Given the description of an element on the screen output the (x, y) to click on. 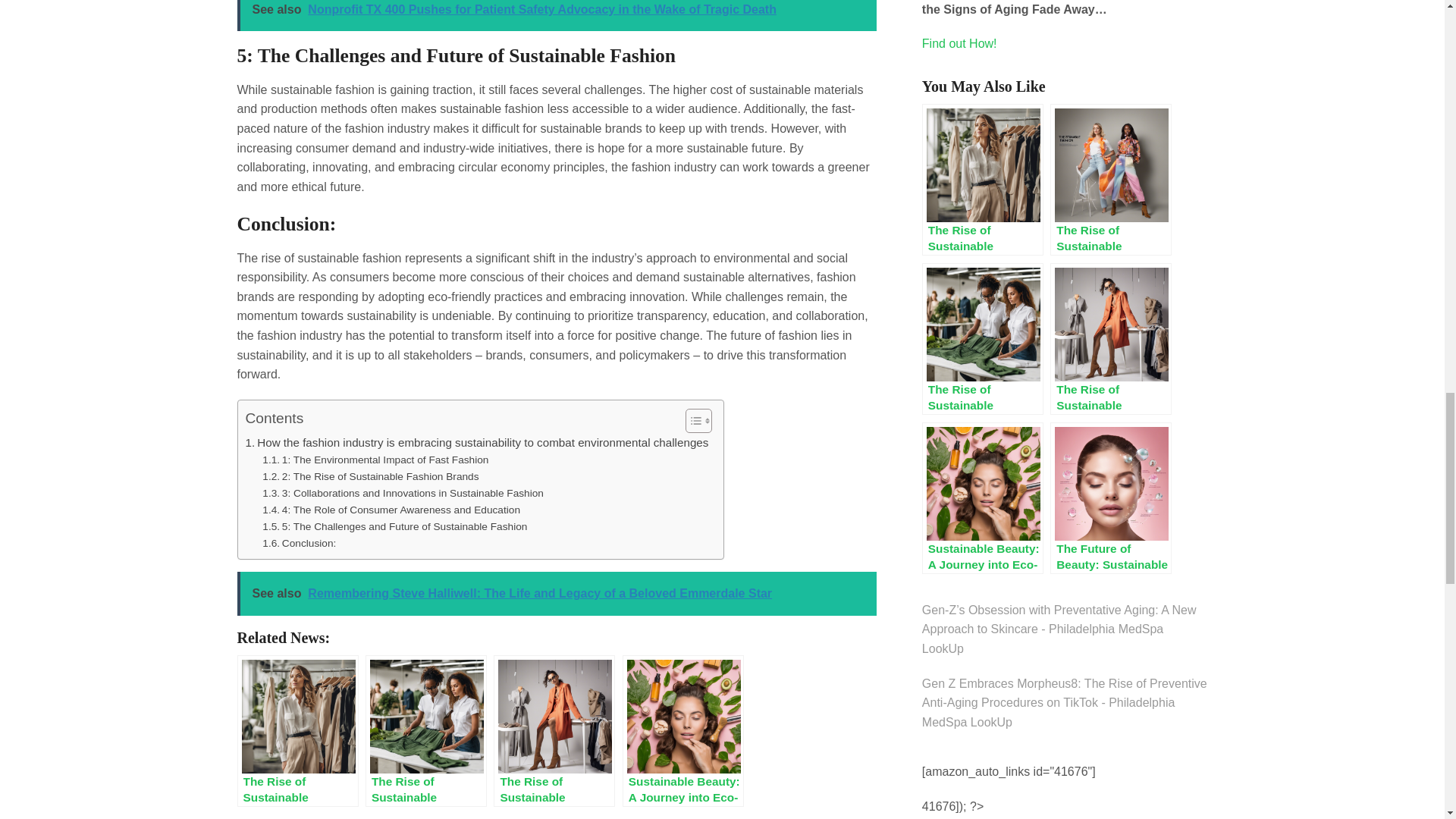
3: Collaborations and Innovations in Sustainable Fashion (402, 493)
1: The Environmental Impact of Fast Fashion (374, 460)
2: The Rise of Sustainable Fashion Brands (370, 476)
